Given the description of an element on the screen output the (x, y) to click on. 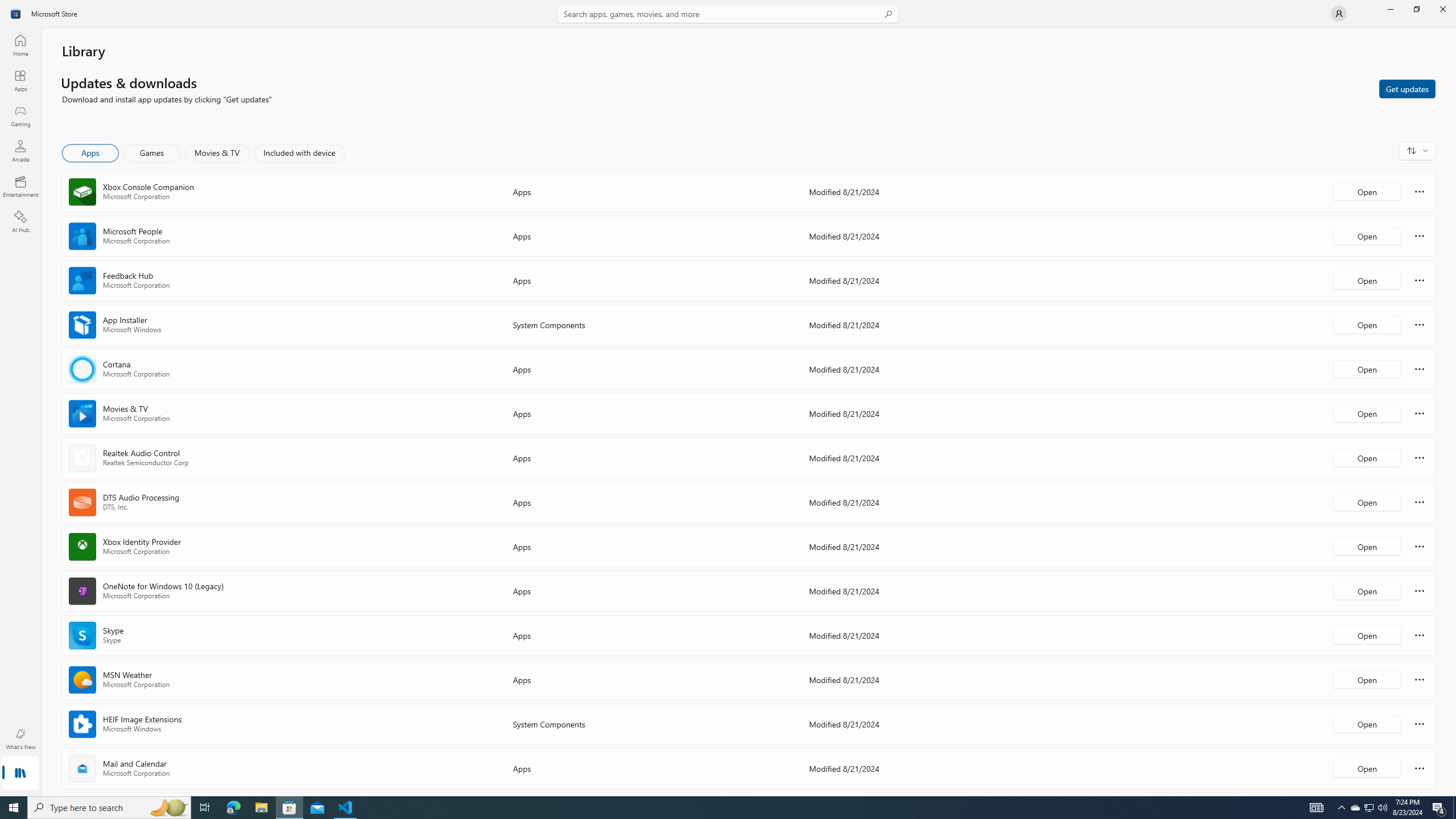
Minimize Microsoft Store (1390, 9)
AI Hub (20, 221)
What's New (20, 738)
Games (151, 153)
Home (20, 45)
Restore Microsoft Store (1416, 9)
Sort and filter (1417, 149)
User profile (1338, 13)
AutomationID: NavigationControl (728, 398)
Close Microsoft Store (1442, 9)
More options (1419, 768)
Class: Image (15, 13)
Entertainment (20, 185)
Get updates (1406, 88)
Included with device (299, 153)
